Given the description of an element on the screen output the (x, y) to click on. 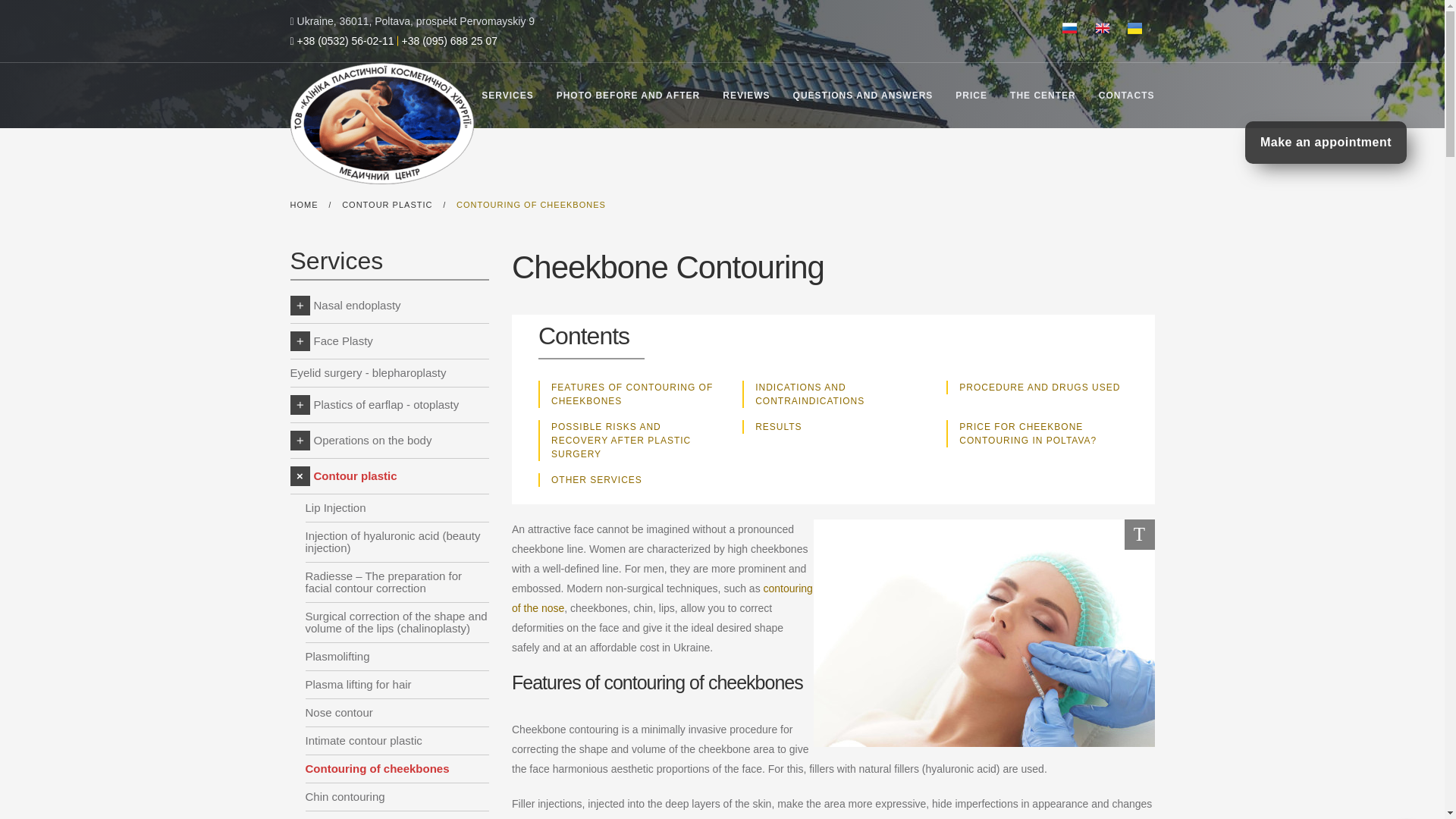
Plastic and Cosmetic surgery center (381, 123)
en (1107, 29)
ru (1075, 29)
Cheekbone Contouring in Poltava, Kiev and Kharkov - photo 1 (983, 632)
SERVICES (512, 95)
uk (1140, 29)
Make an appointment (1325, 142)
